Given the description of an element on the screen output the (x, y) to click on. 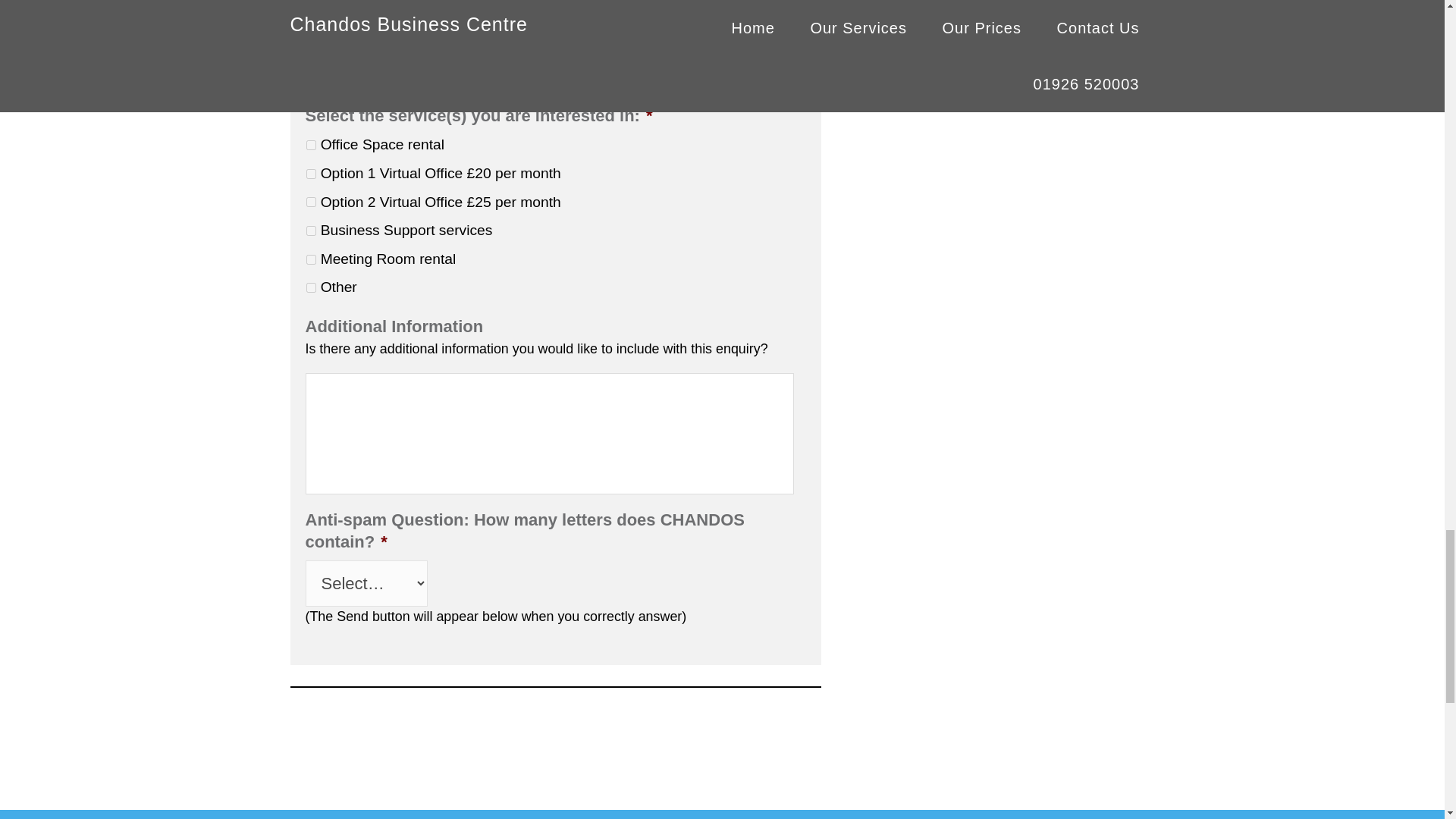
Business Support services (310, 230)
Meeting Room rental (310, 259)
Office Space rental (310, 144)
Other (310, 287)
